Given the description of an element on the screen output the (x, y) to click on. 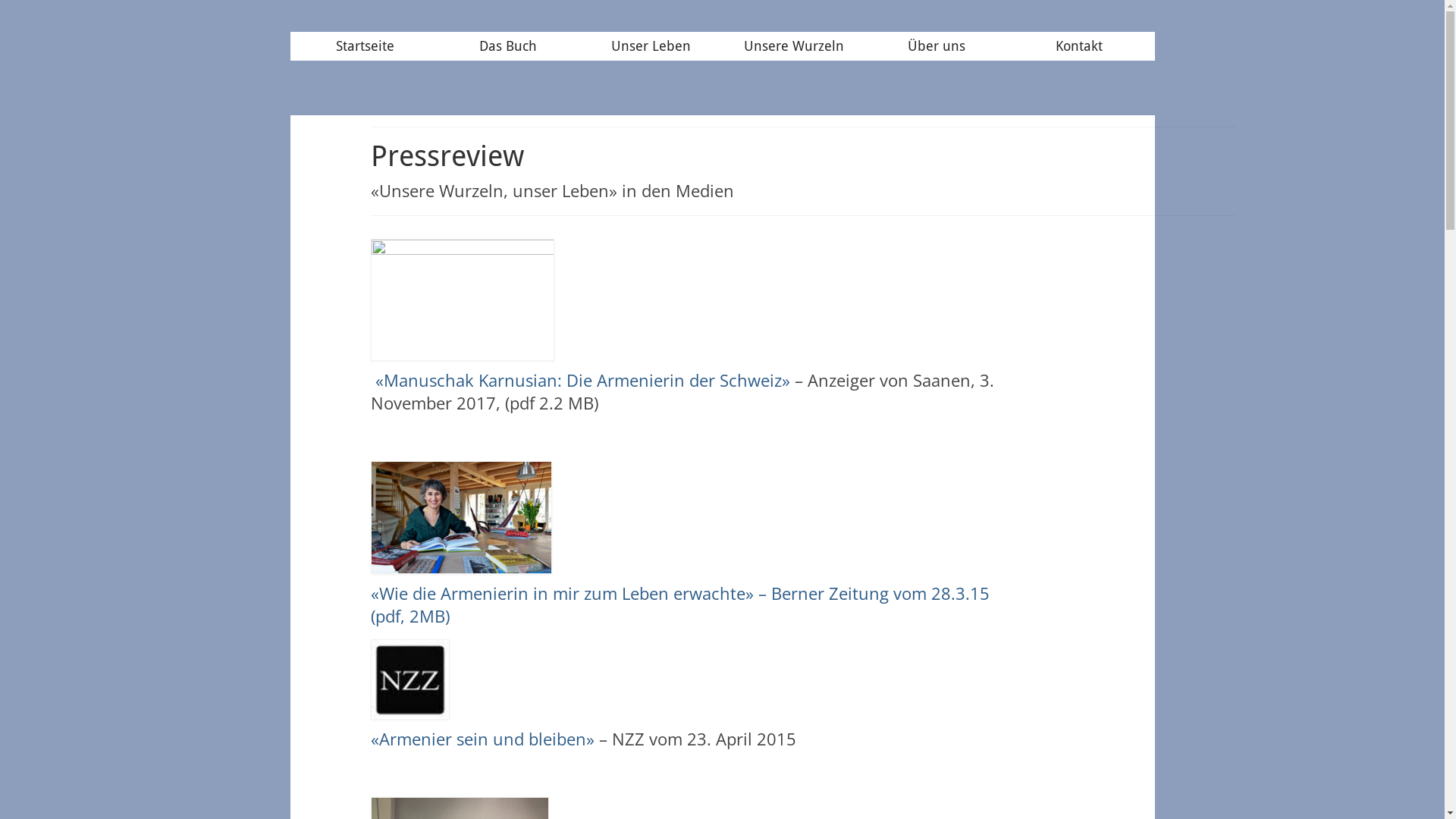
Kontakt Element type: text (1079, 45)
Unsere Wurzeln Element type: text (793, 45)
Unser Leben Element type: text (650, 45)
Das Buch Element type: text (508, 45)
Startseite Element type: text (364, 45)
